Given the description of an element on the screen output the (x, y) to click on. 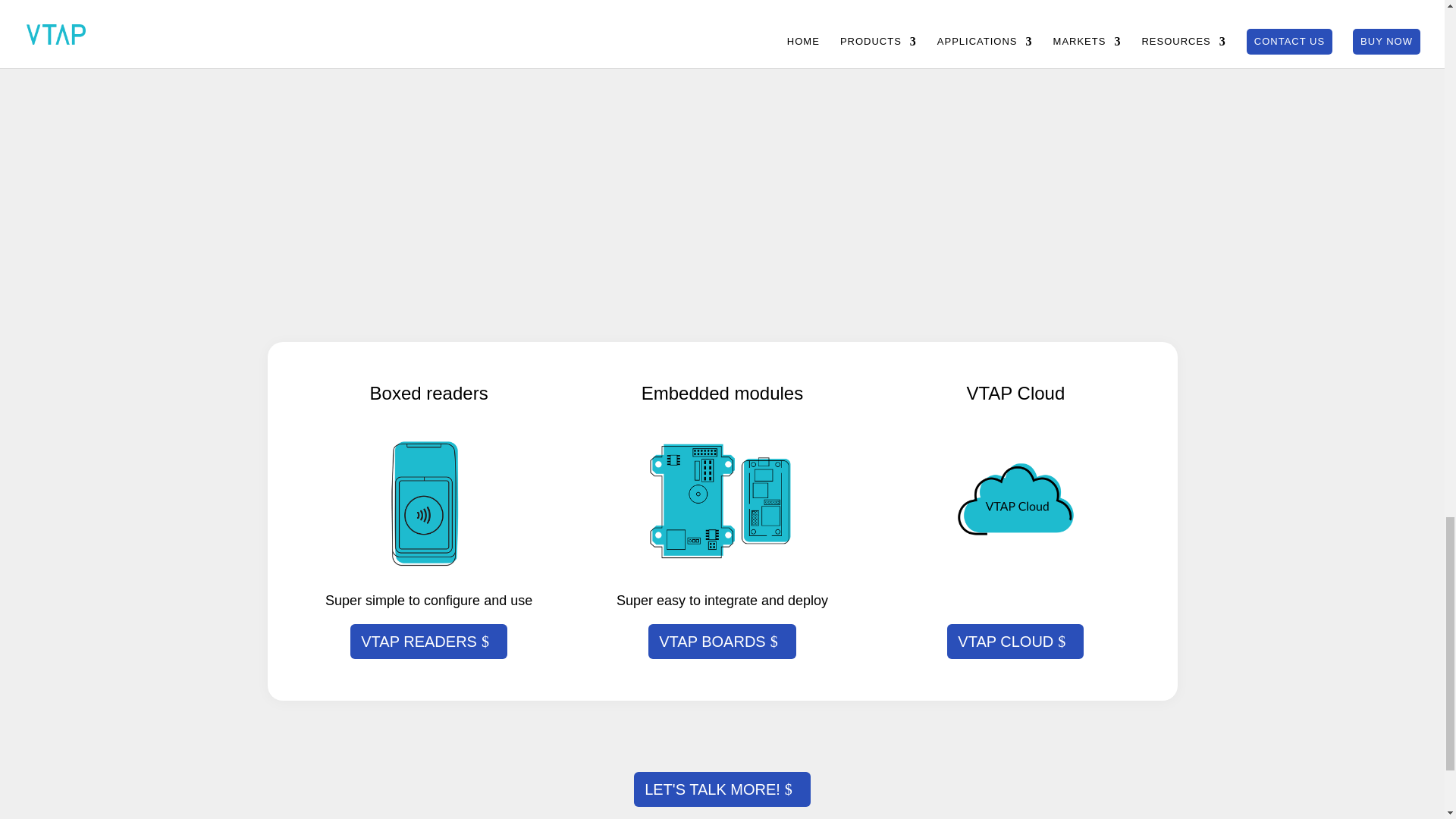
VTAP CLOUD (1015, 641)
VTAP-cloud-platform (1015, 501)
VTAP BOARDS (720, 641)
VTAP-embedded-reader-modules (721, 501)
VTAP READERS (428, 641)
LET'S TALK MORE! (721, 789)
VTAP-boxed-reader-range (429, 501)
